Given the description of an element on the screen output the (x, y) to click on. 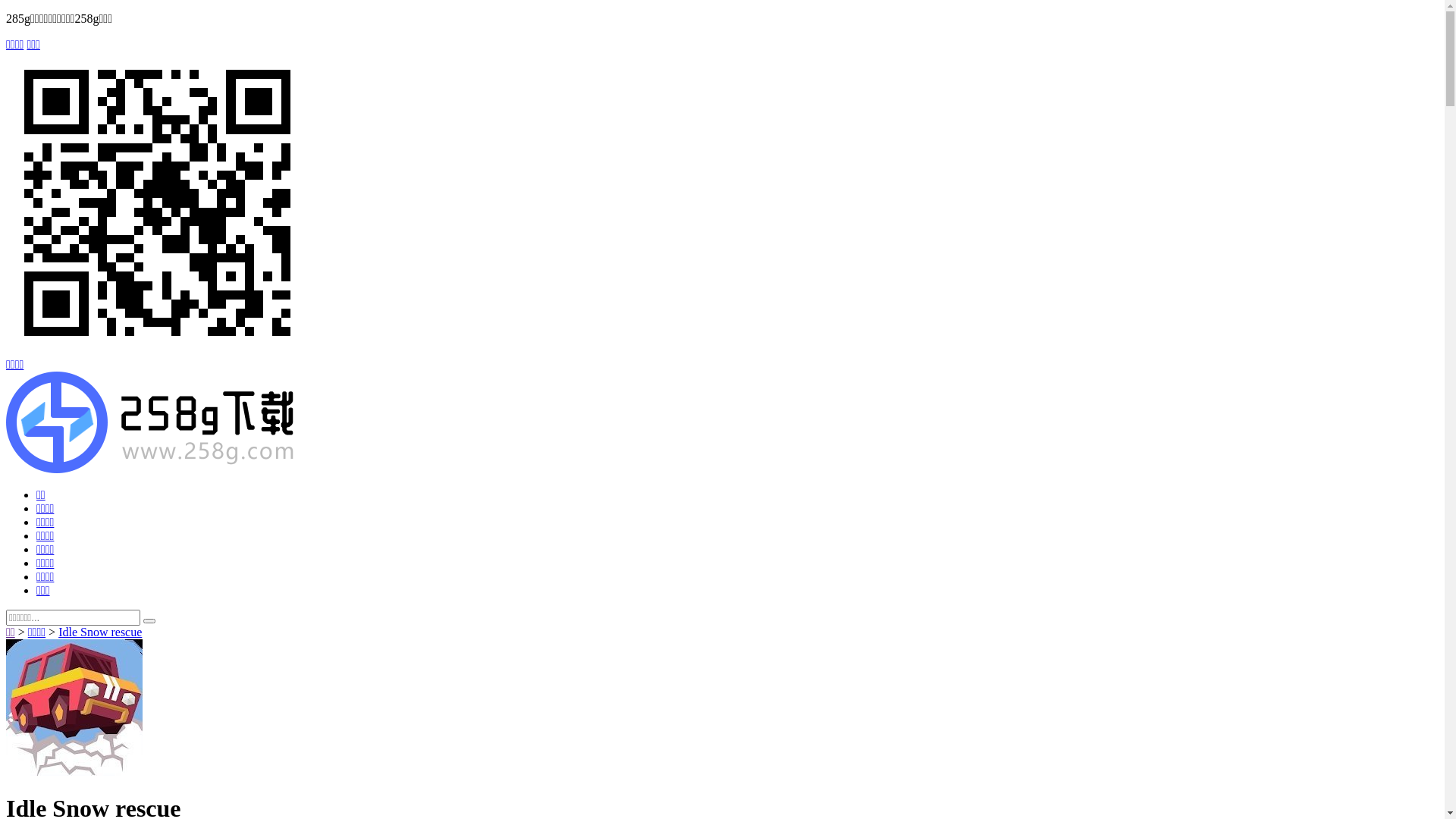
Idle Snow rescue Element type: text (99, 631)
